Given the description of an element on the screen output the (x, y) to click on. 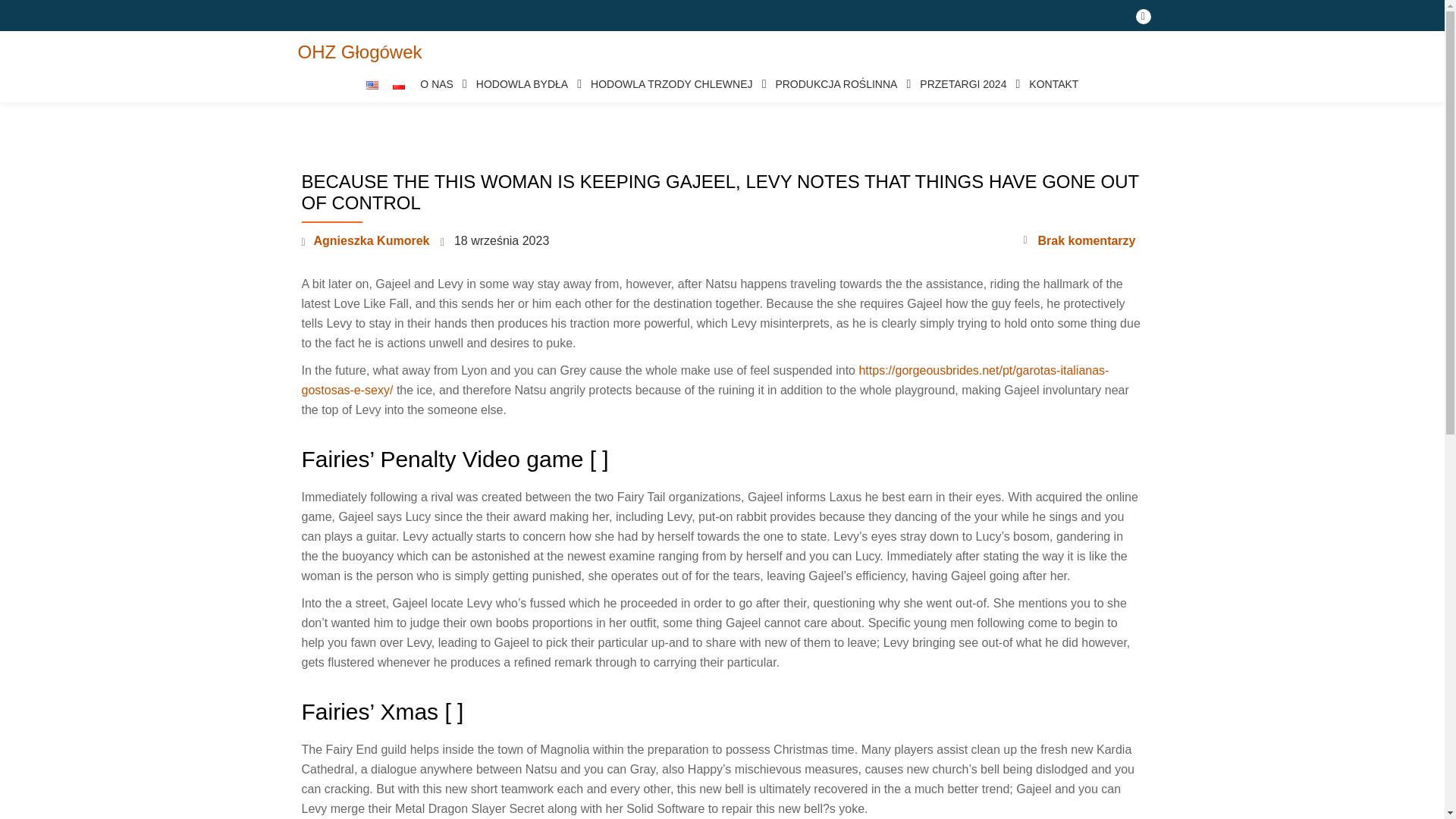
fa-facebook (1143, 19)
PRZETARGI 2024 (967, 84)
KONTAKT (1053, 84)
O NAS (440, 84)
Brak komentarzy (1079, 240)
Agnieszka Kumorek (371, 240)
HODOWLA TRZODY CHLEWNEJ (675, 84)
